Given the description of an element on the screen output the (x, y) to click on. 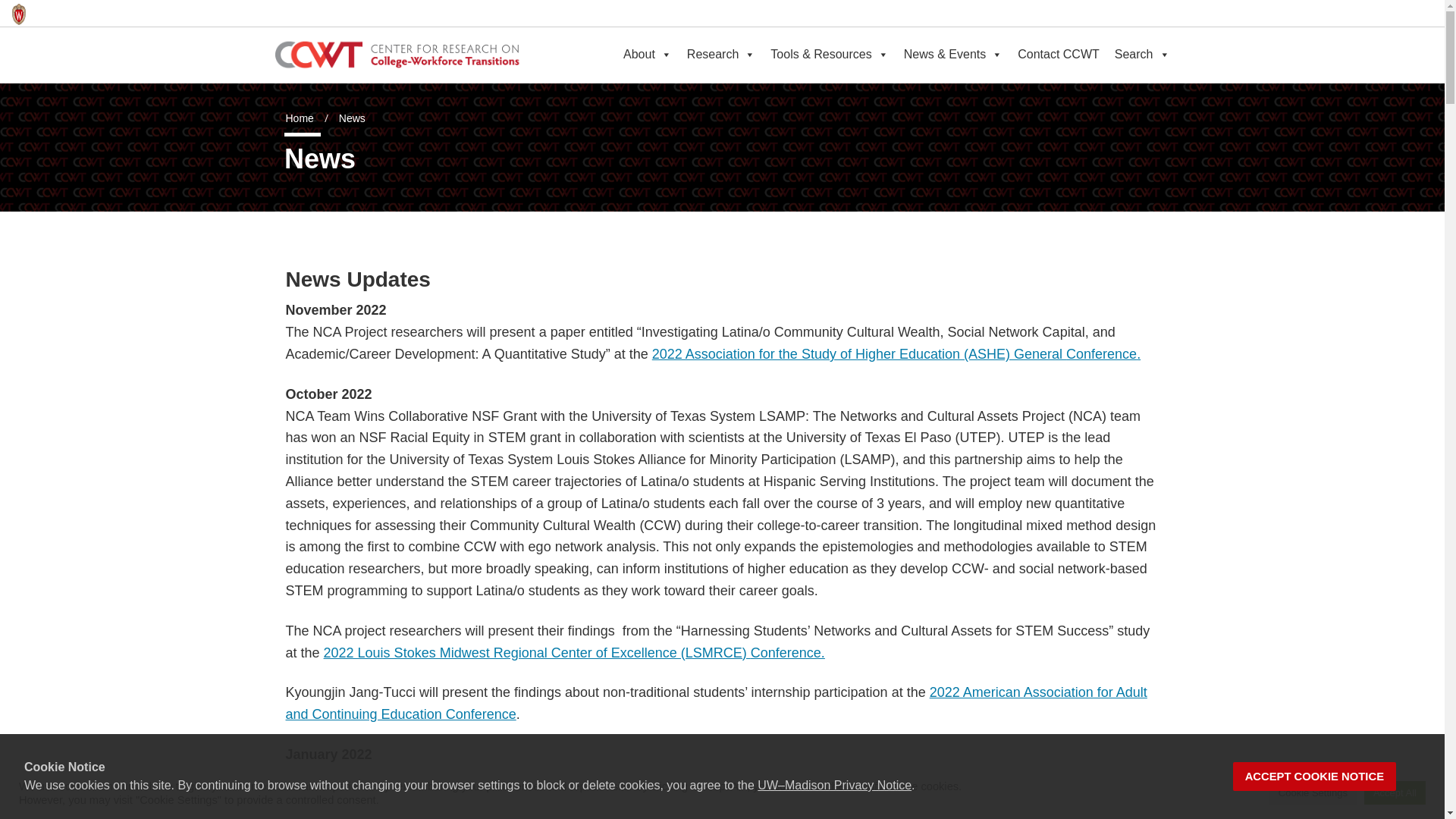
News (352, 118)
Research (720, 54)
About (647, 54)
Home (299, 118)
Skip to main content (3, 3)
ACCEPT COOKIE NOTICE (1314, 776)
